Given the description of an element on the screen output the (x, y) to click on. 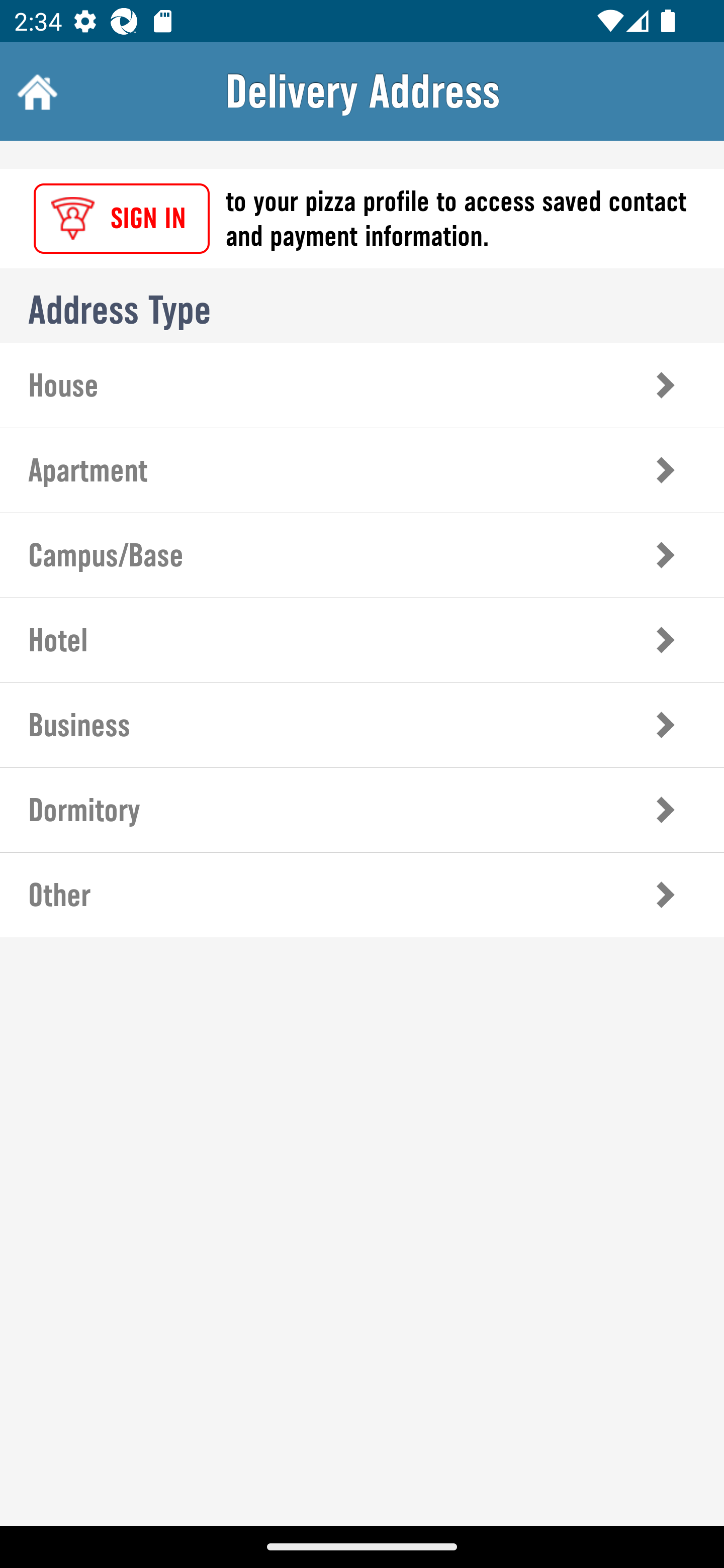
Home (35, 91)
SIGN IN (121, 218)
1 of 7, House House Address Details (362, 385)
2 of 7, Apartment Apartment Address Details (362, 470)
3 of 7, Campus/Base Campus/Base Address Details (362, 554)
4 of 7, Hotel Hotel Address Details (362, 639)
5 of 7, Business Business Address Details (362, 724)
6 of 7, Dormitory Dormitory Address Details (362, 810)
7 of 7, Other Other Address Details (362, 894)
